Given the description of an element on the screen output the (x, y) to click on. 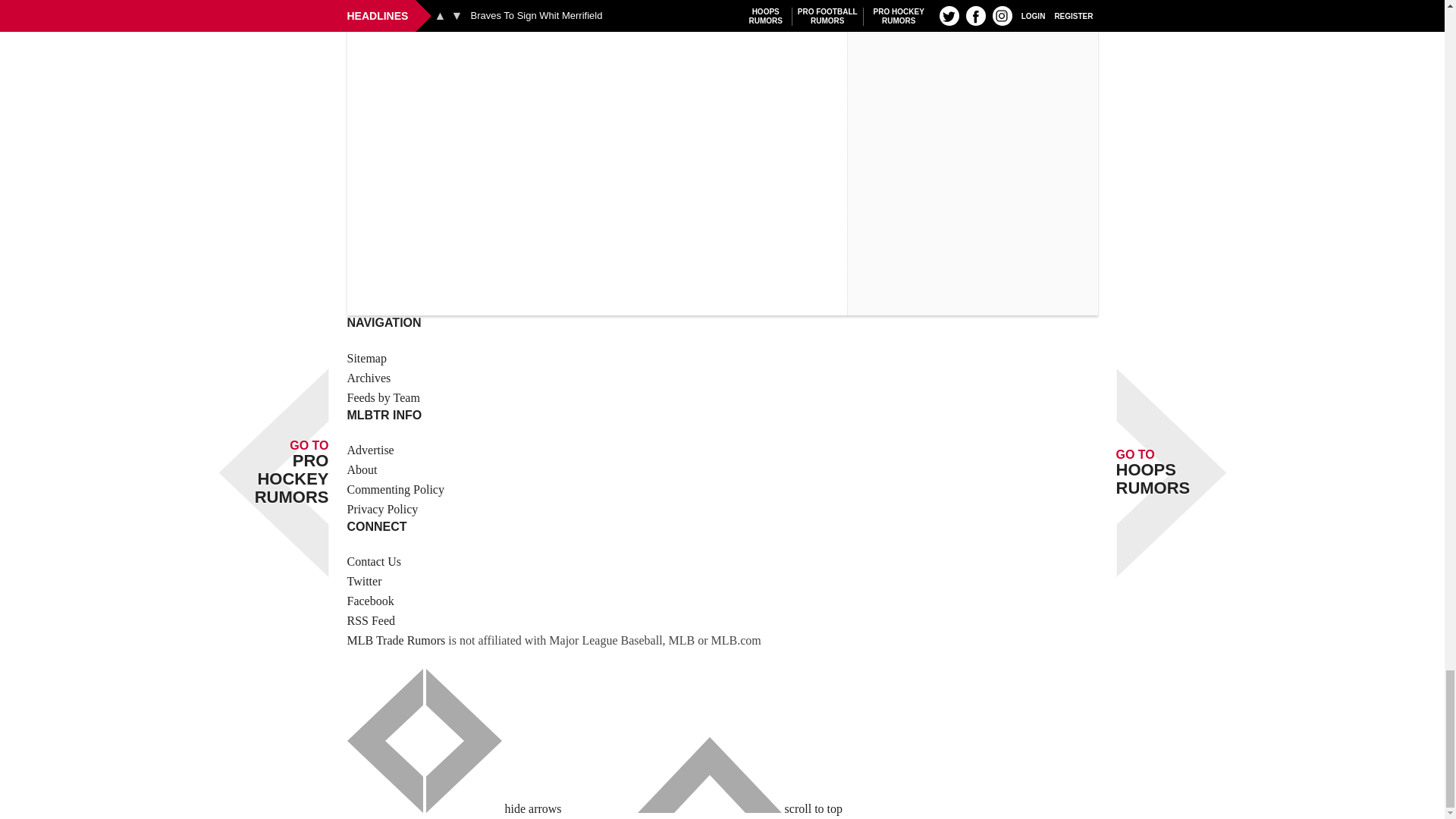
MLB Trade Rumors (396, 640)
